Given the description of an element on the screen output the (x, y) to click on. 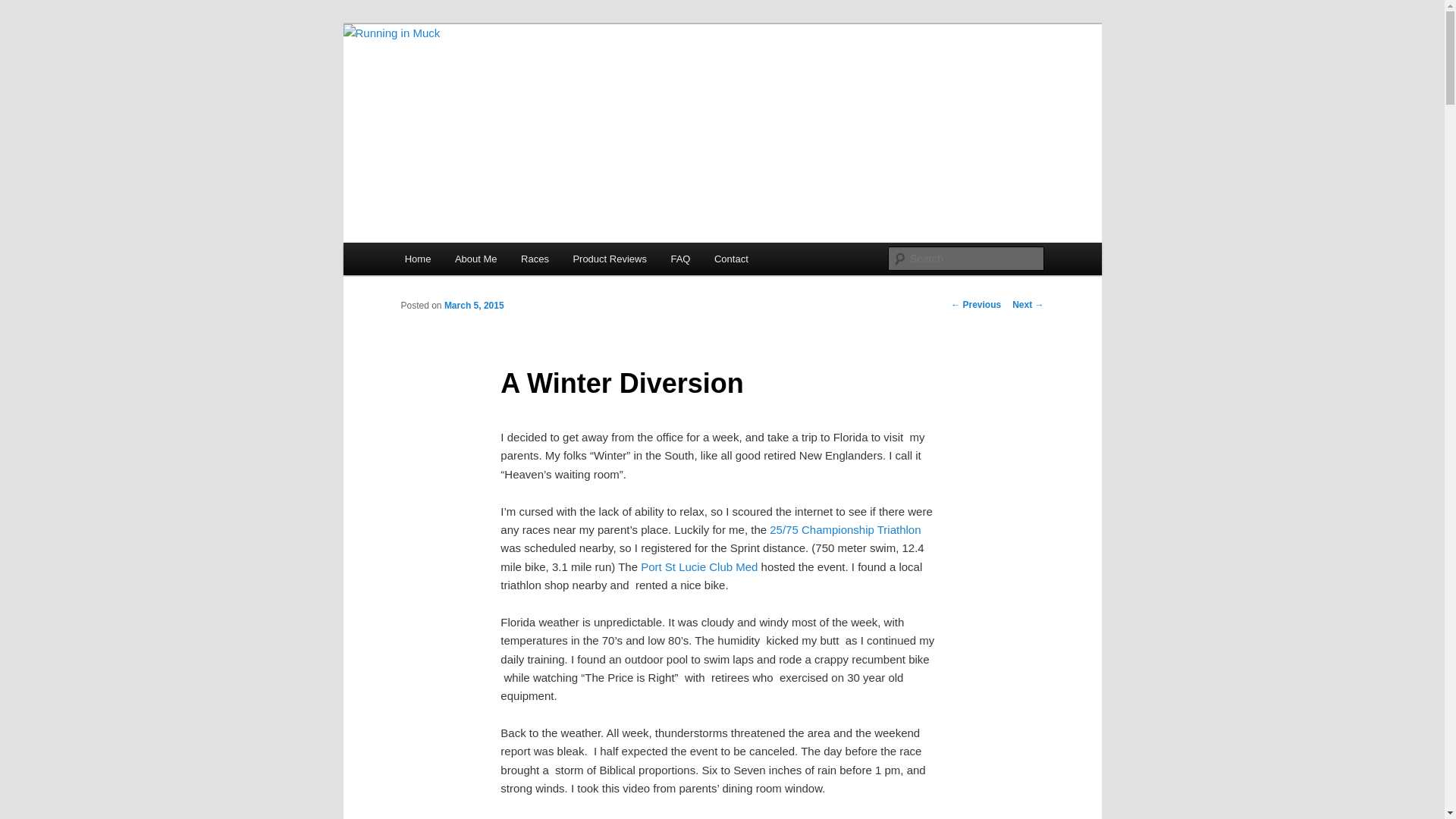
Port St Lucie Club Med (698, 566)
Product Reviews (609, 258)
Races (534, 258)
Port St Lucie Club Med (698, 566)
March 5, 2015 (473, 305)
FAQ (681, 258)
Running in Muck (491, 78)
Contact (730, 258)
6:52 pm (473, 305)
Search (24, 8)
